Given the description of an element on the screen output the (x, y) to click on. 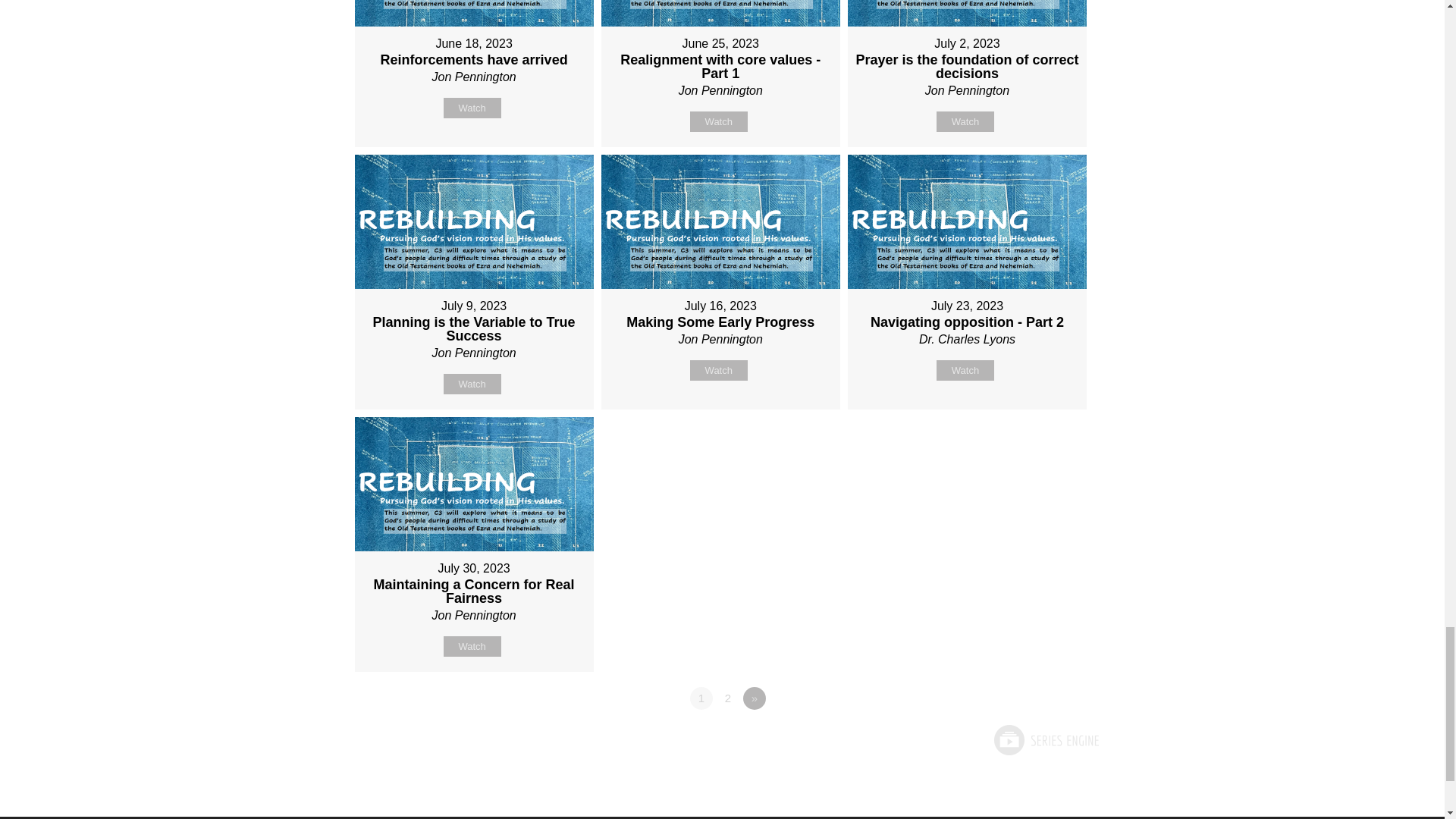
Watch (472, 646)
Watch (472, 383)
Watch (719, 370)
2 (727, 698)
Watch (965, 370)
Watch (472, 107)
Watch (719, 121)
Watch (965, 121)
Powered by Series Engine (1044, 739)
